Given the description of an element on the screen output the (x, y) to click on. 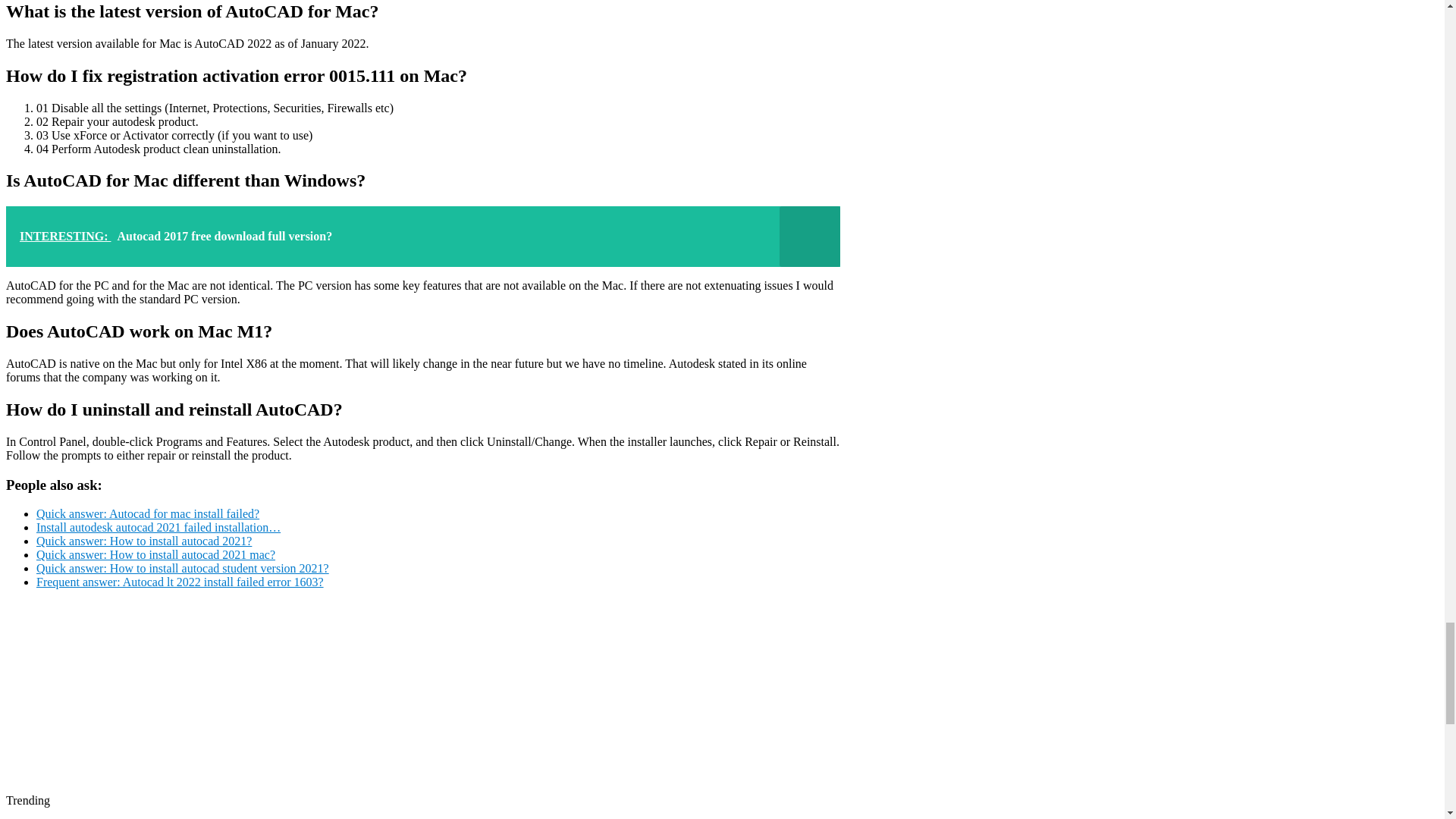
Quick answer: Autocad for mac install failed? (147, 513)
Quick answer: How to install autocad student version 2021? (182, 567)
Quick answer: How to install autocad 2021 mac? (155, 554)
Frequent answer: Autocad lt 2022 install failed error 1603? (179, 581)
INTERESTING:   Autocad 2017 free download full version? (422, 236)
Quick answer: How to install autocad 2021? (143, 540)
